Given the description of an element on the screen output the (x, y) to click on. 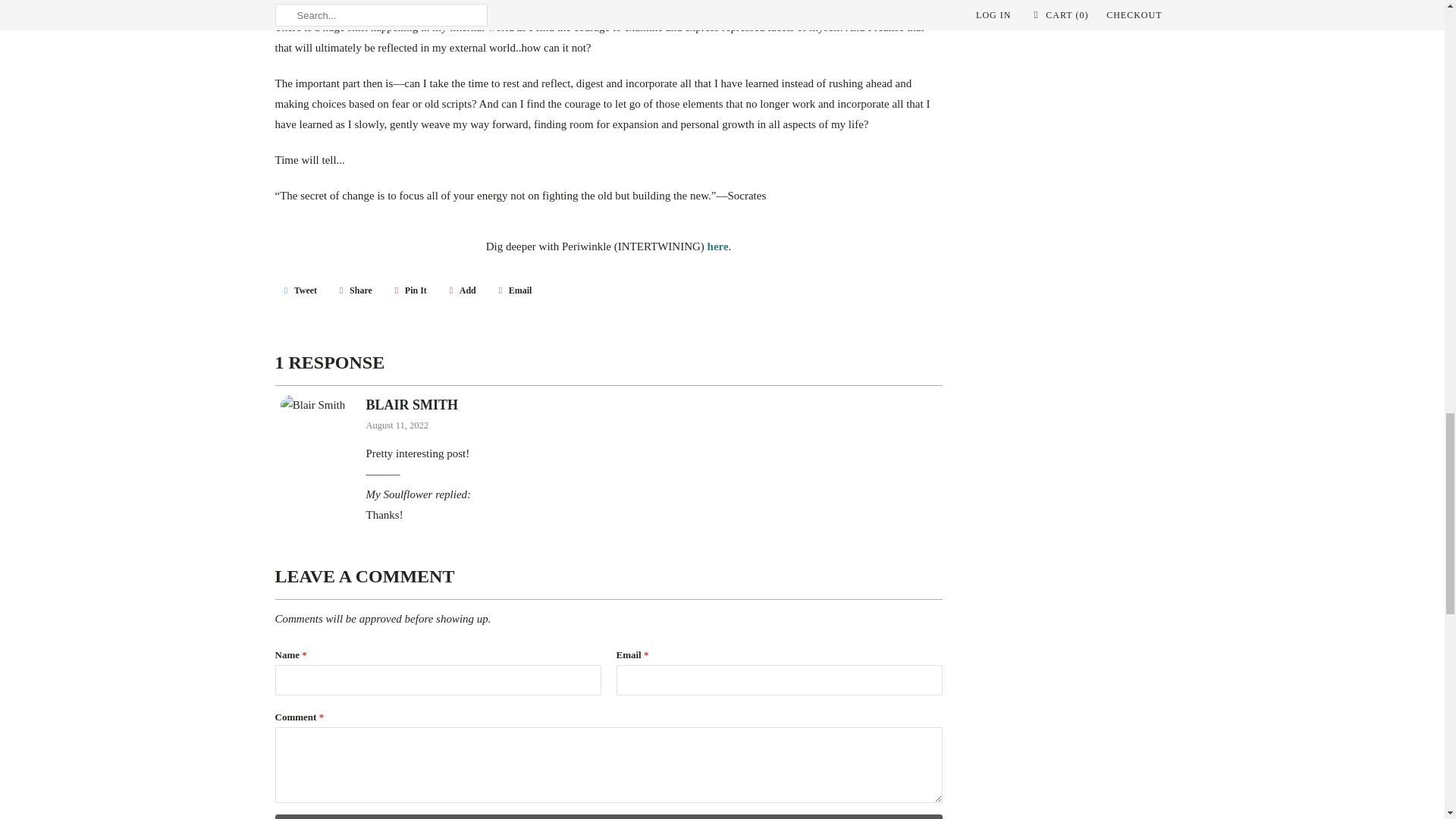
soulflower periwinkle (718, 246)
Share this on Pinterest (407, 290)
Email (513, 290)
Pin It (407, 290)
Share this on Facebook (353, 290)
Share this on Twitter (298, 290)
Tweet (298, 290)
Email this to a friend (513, 290)
Share (353, 290)
